Given the description of an element on the screen output the (x, y) to click on. 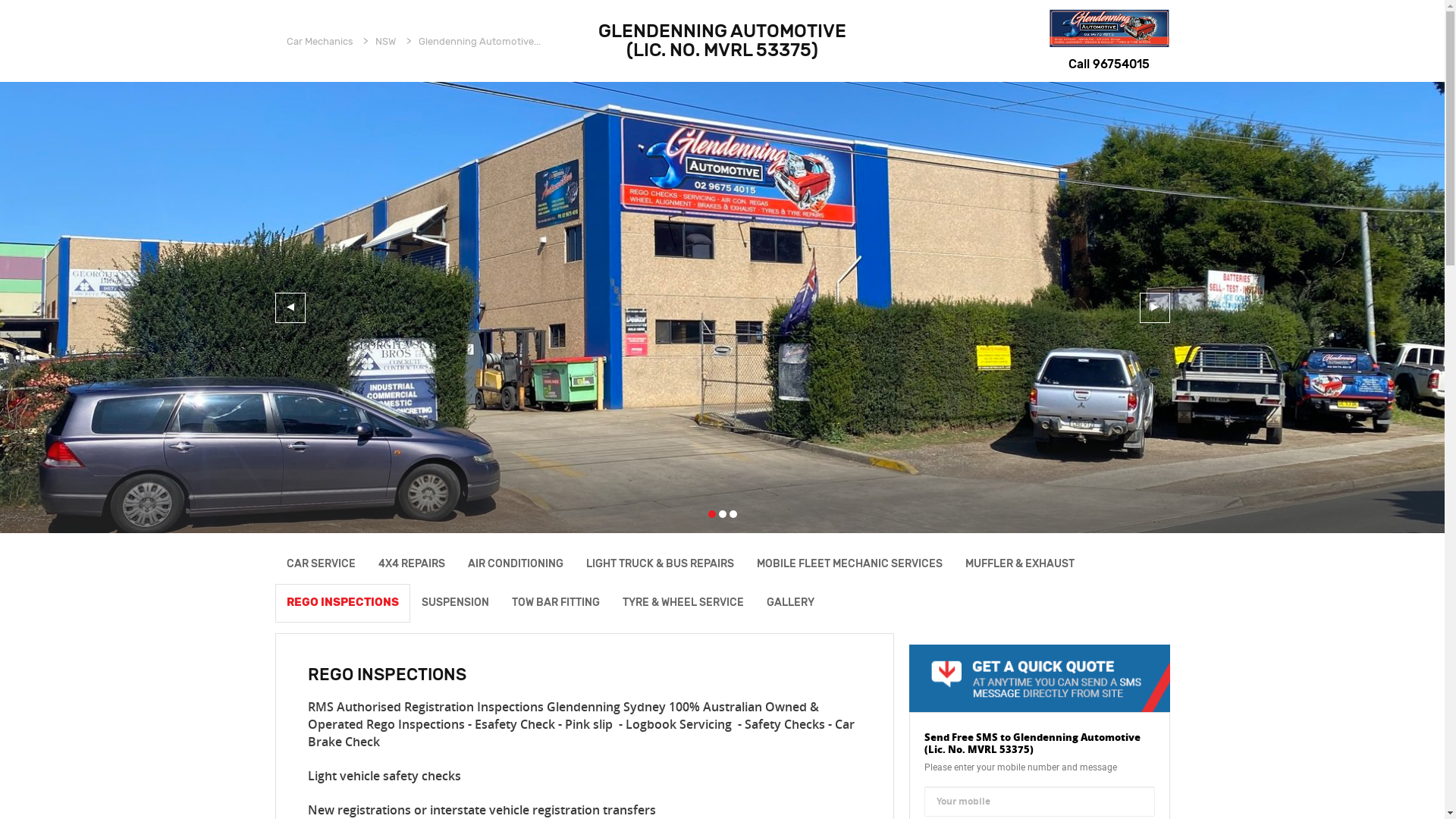
Car Mechanics Element type: text (319, 41)
Next Element type: text (1154, 307)
2 Element type: text (722, 513)
4X4 REPAIRS Element type: text (411, 564)
MOBILE FLEET MECHANIC SERVICES Element type: text (848, 564)
TOW BAR FITTING Element type: text (555, 602)
MUFFLER & EXHAUST Element type: text (1019, 564)
NSW Element type: text (385, 41)
1 Element type: text (711, 513)
SUSPENSION Element type: text (454, 602)
LIGHT TRUCK & BUS REPAIRS Element type: text (659, 564)
TYRE & WHEEL SERVICE Element type: text (683, 602)
Previous Element type: text (289, 307)
GALLERY Element type: text (790, 602)
Call 96754015 Element type: text (1108, 65)
CAR SERVICE Element type: text (320, 564)
AIR CONDITIONING Element type: text (515, 564)
3 Element type: text (733, 513)
REGO INSPECTIONS Element type: text (341, 602)
